Given the description of an element on the screen output the (x, y) to click on. 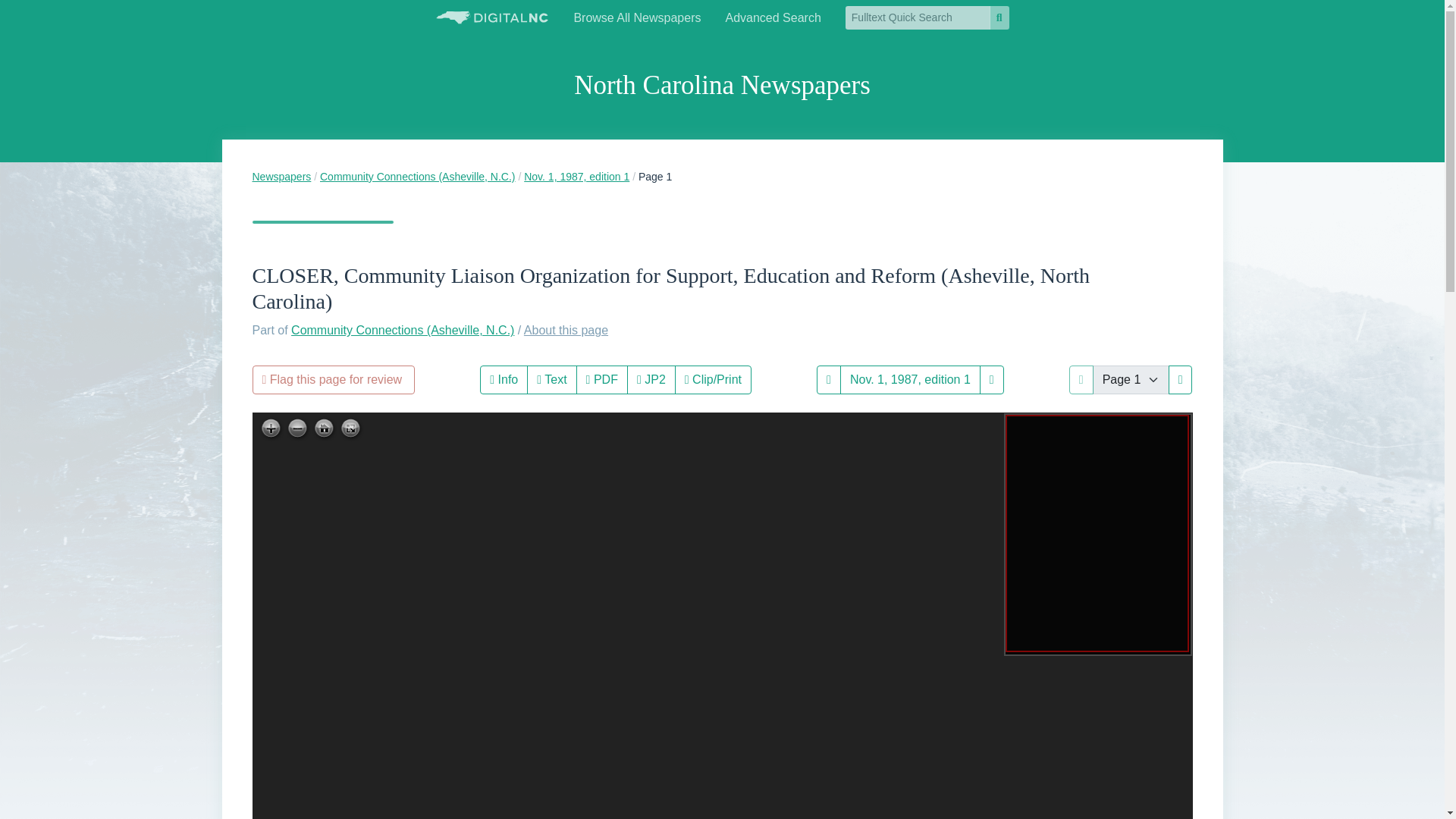
View Page Text (551, 379)
Flag this page for review (332, 379)
Browse All Newspapers (636, 18)
Info (503, 379)
View all pages in this issue (909, 379)
Newspapers (281, 176)
Select page number (1131, 379)
Go home (324, 429)
Zoom out (296, 429)
